Given the description of an element on the screen output the (x, y) to click on. 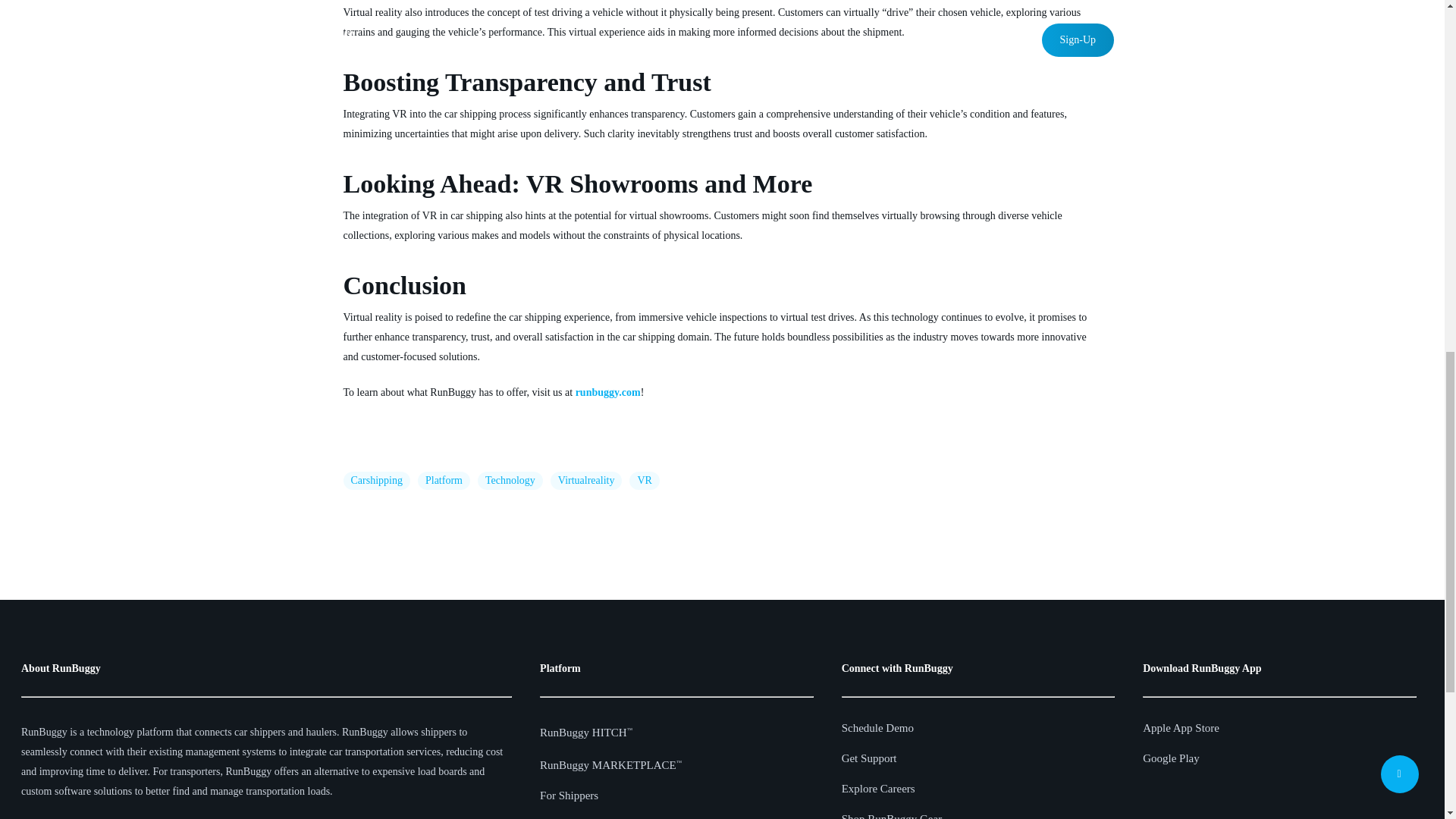
Platform (443, 480)
Technology (510, 480)
VR (643, 480)
Carshipping (375, 480)
runbuggy.com (607, 392)
Virtualreality (586, 480)
